Given the description of an element on the screen output the (x, y) to click on. 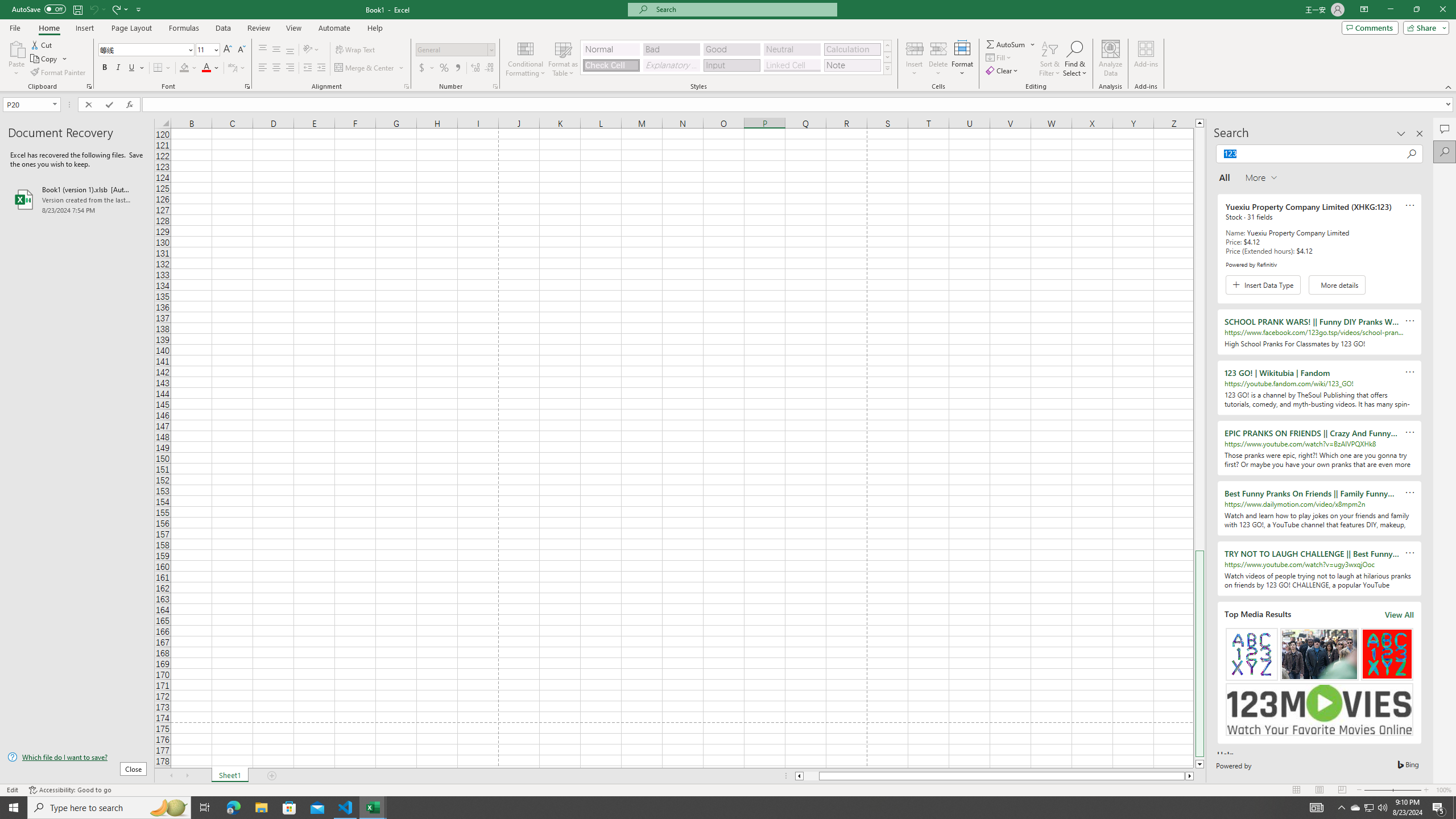
Comma Style (457, 67)
Merge & Center (369, 67)
Percent Style (443, 67)
AutomationID: CellStylesGallery (736, 57)
Page up (1199, 338)
